Given the description of an element on the screen output the (x, y) to click on. 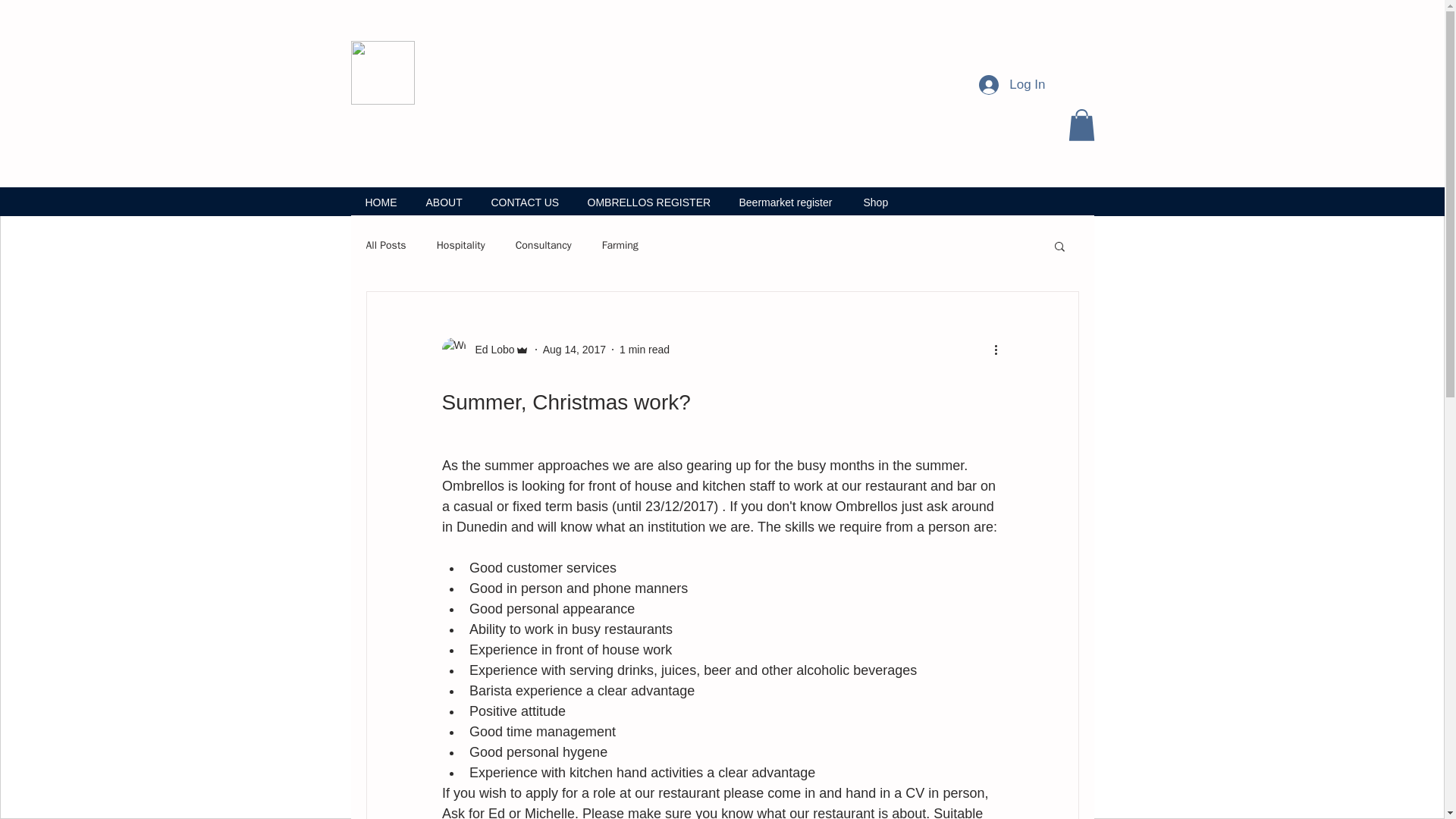
CONTACT US (524, 200)
Consultancy (543, 245)
Hospitality (460, 245)
HOME (380, 200)
Farming (620, 245)
All Posts (385, 245)
Shop (875, 200)
OMBRELLOS REGISTER (649, 200)
1 min read (644, 349)
Ed Lobo (489, 349)
ABOUT (443, 200)
Aug 14, 2017 (574, 349)
Beermarket register (786, 200)
Ed Lobo (484, 349)
Log In (1011, 83)
